Given the description of an element on the screen output the (x, y) to click on. 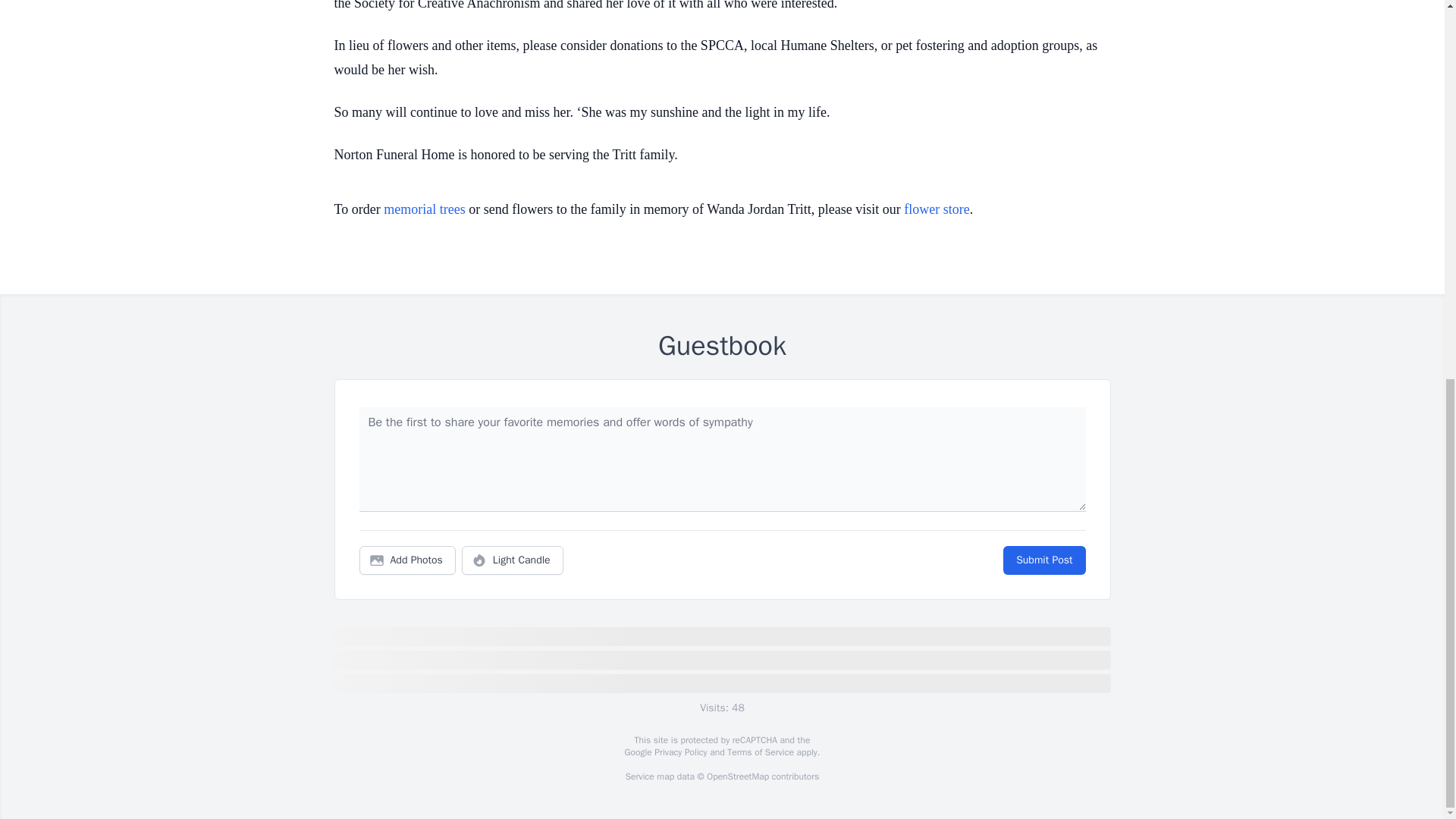
Add Photos (407, 560)
memorial trees (424, 209)
Terms of Service (759, 752)
Submit Post (1043, 560)
OpenStreetMap (737, 776)
flower store (936, 209)
Privacy Policy (679, 752)
Light Candle (512, 560)
